Given the description of an element on the screen output the (x, y) to click on. 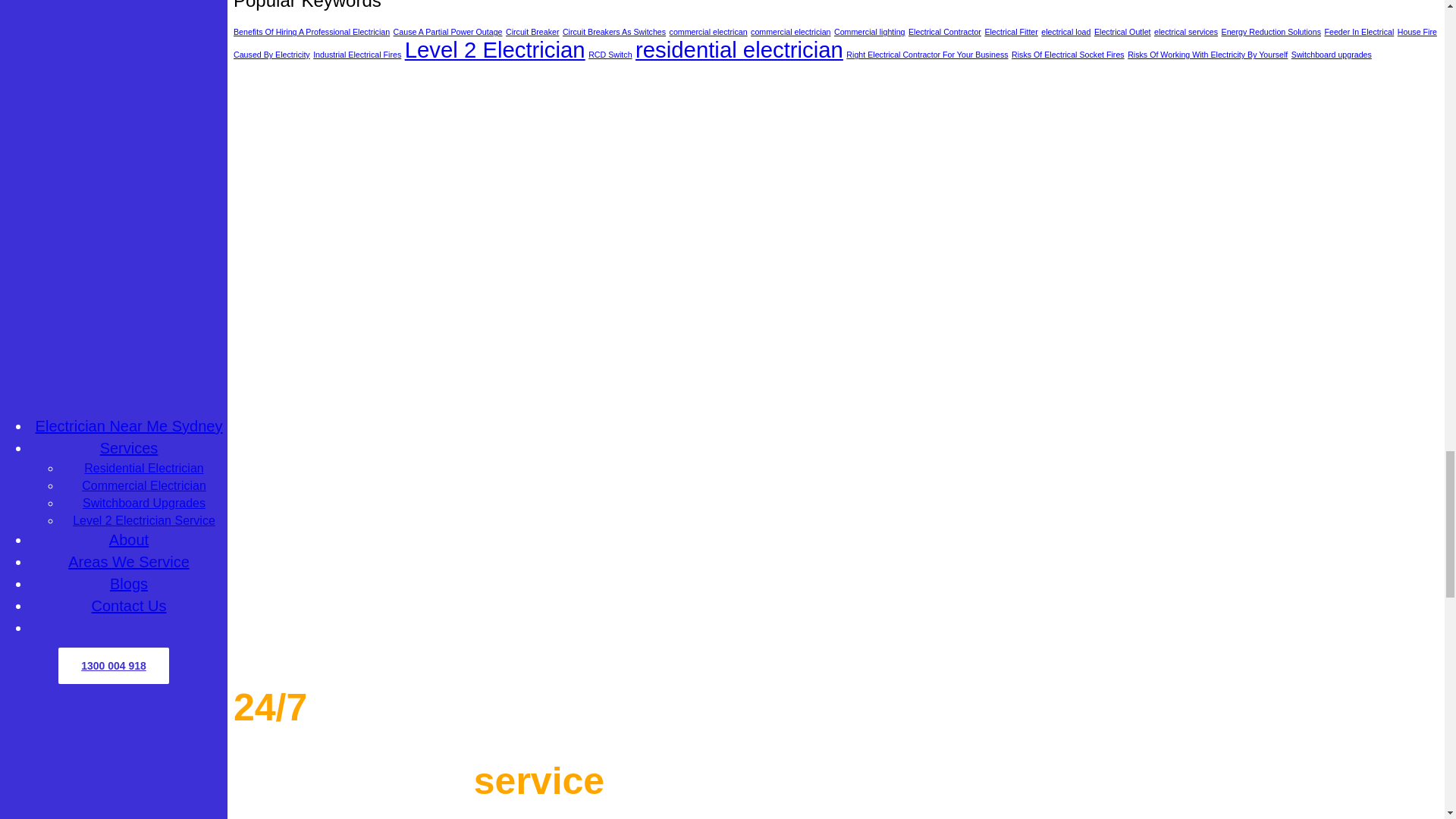
Commercial lighting (869, 31)
Electrical Contractor (944, 31)
commercial electrican (708, 31)
commercial electrician (790, 31)
Circuit Breakers As Switches (613, 31)
Benefits Of Hiring A Professional Electrician (311, 31)
Home (422, 642)
Cause A Partial Power Outage (447, 31)
Circuit Breaker (532, 31)
